Given the description of an element on the screen output the (x, y) to click on. 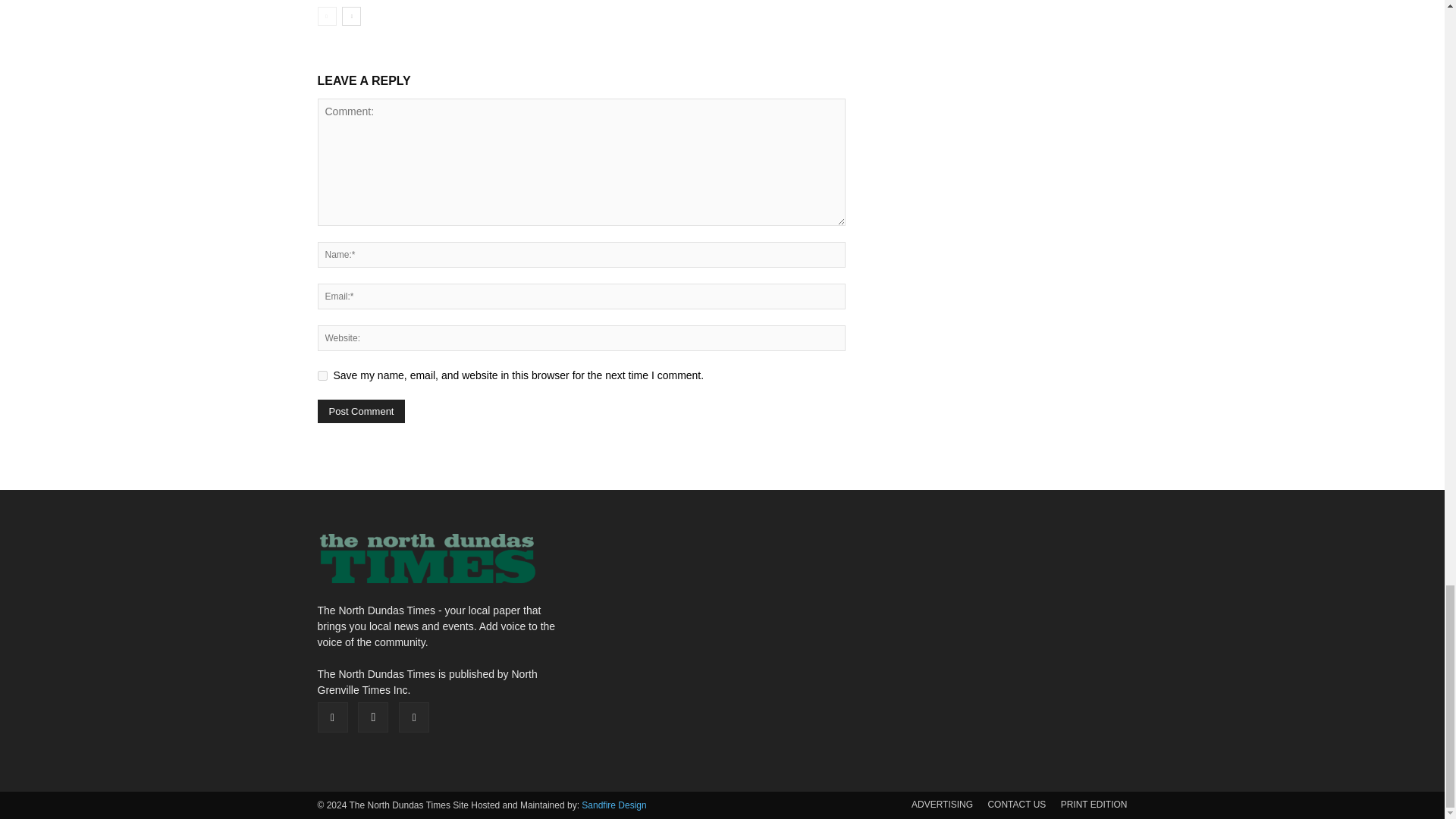
Post Comment (360, 411)
yes (321, 375)
